Given the description of an element on the screen output the (x, y) to click on. 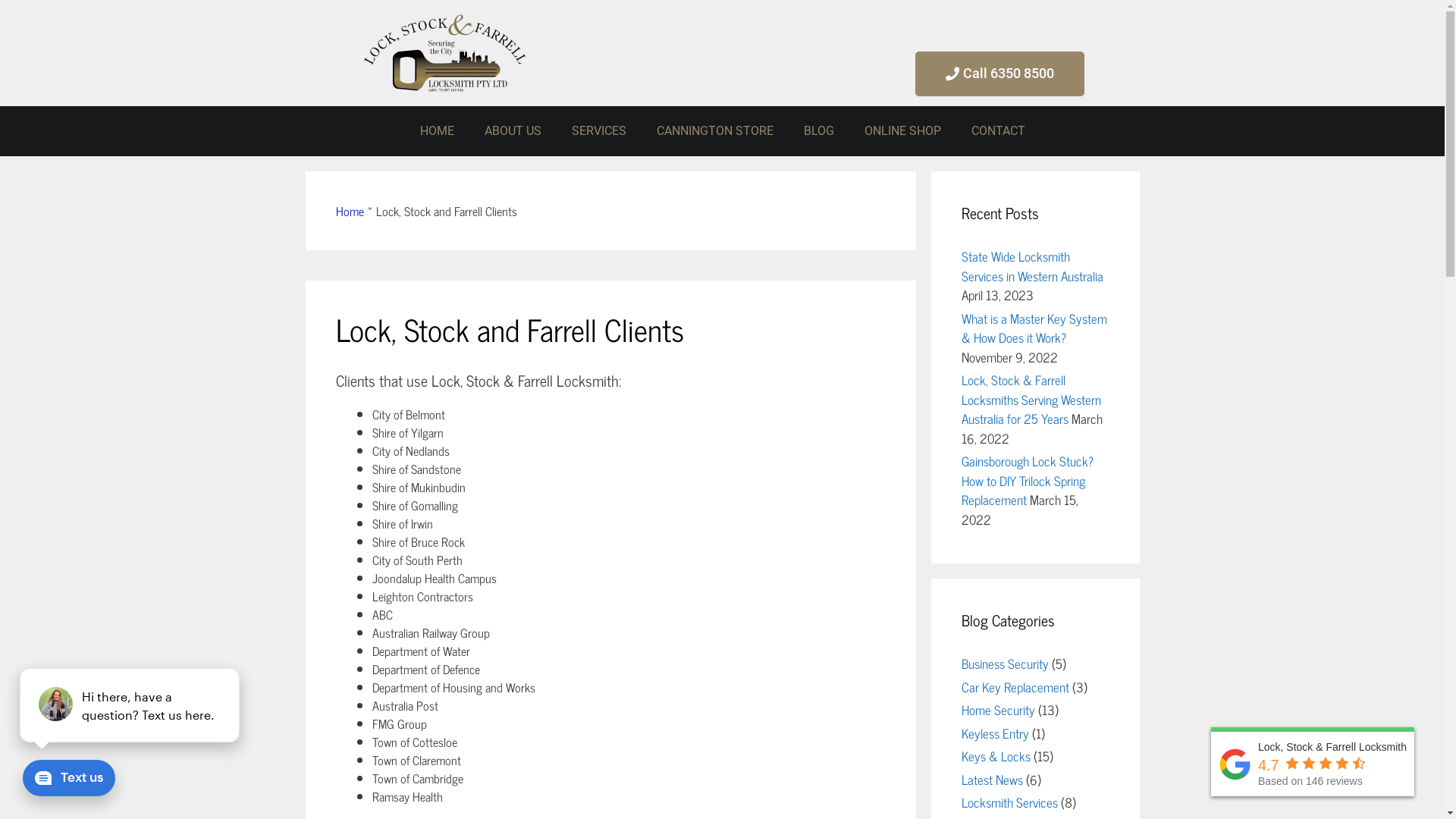
ABOUT US Element type: text (511, 130)
HOME Element type: text (436, 130)
Keyless Entry Element type: text (995, 732)
CONTACT Element type: text (997, 130)
podium webchat widget prompt Element type: hover (128, 705)
Locksmith Services Element type: text (1009, 801)
Business Security Element type: text (1004, 663)
Lock Stock and Farrell Locksmith Perth Logo Element type: hover (444, 52)
Car Key Replacement Element type: text (1015, 686)
Home Element type: text (349, 210)
Call 6350 8500 Element type: text (999, 73)
ONLINE SHOP Element type: text (902, 130)
SERVICES Element type: text (598, 130)
Home Security Element type: text (998, 709)
Latest News Element type: text (991, 779)
CANNINGTON STORE Element type: text (714, 130)
BLOG Element type: text (818, 130)
State Wide Locksmith Services in Western Australia Element type: text (1032, 265)
What is a Master Key System & How Does it Work? Element type: text (1034, 327)
Keys & Locks Element type: text (995, 755)
